Given the description of an element on the screen output the (x, y) to click on. 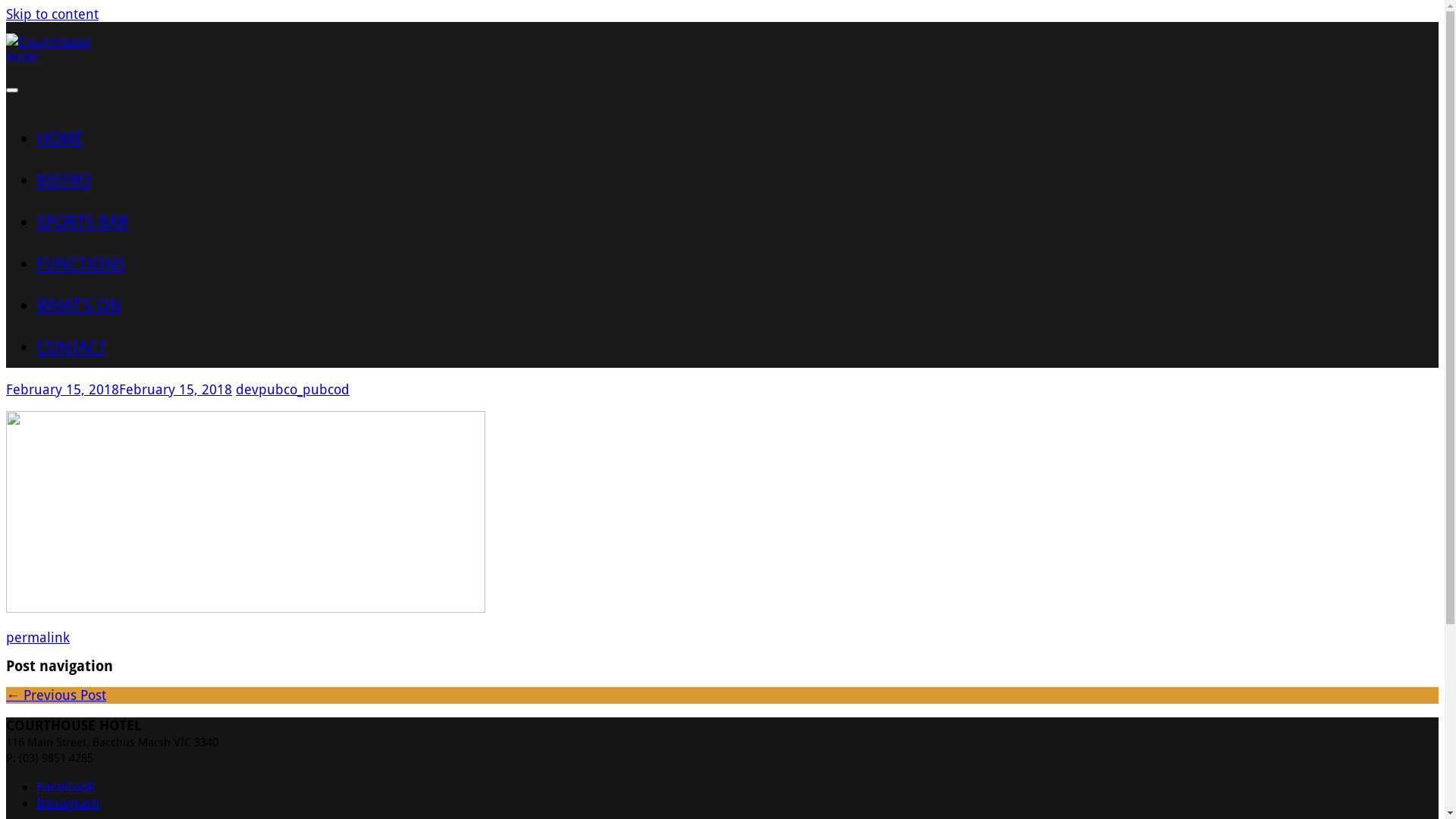
Facebook Element type: text (65, 786)
HOME Element type: text (59, 137)
Courthouse Hotel Element type: hover (62, 57)
BISTRO Element type: text (63, 179)
FUNCTIONS Element type: text (80, 263)
devpubco_pubcod Element type: text (292, 389)
permalink Element type: text (37, 637)
Skip to content Element type: text (52, 13)
CONTACT Element type: text (71, 346)
February 15, 2018February 15, 2018 Element type: text (119, 389)
Instagram Element type: text (67, 802)
SPORTS BAR Element type: text (82, 221)
